Given the description of an element on the screen output the (x, y) to click on. 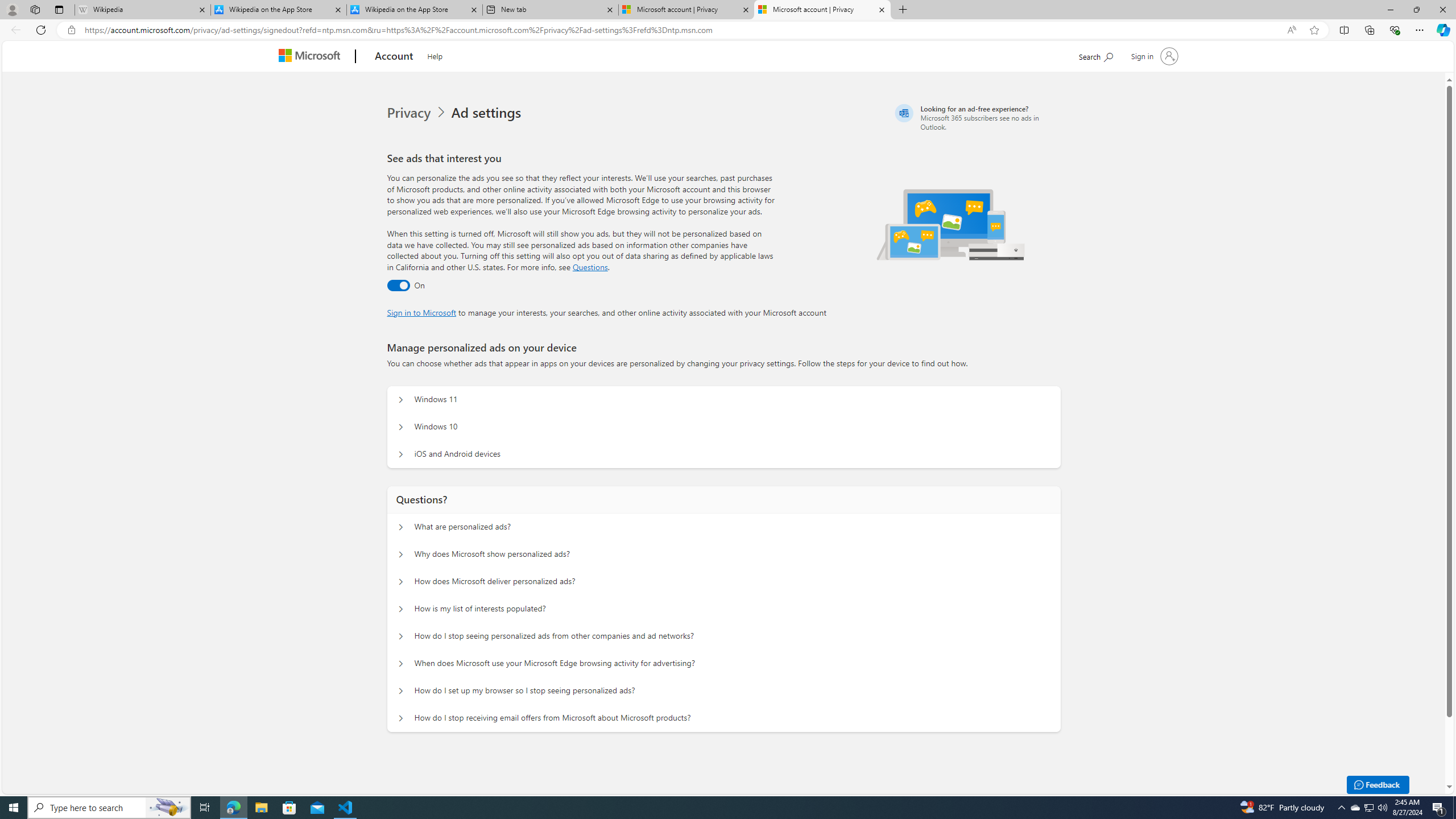
Looking for an ad-free experience? (976, 117)
Ad settings toggle (398, 285)
Go to Questions section (590, 266)
Questions? How is my list of interests populated? (401, 608)
